Given the description of an element on the screen output the (x, y) to click on. 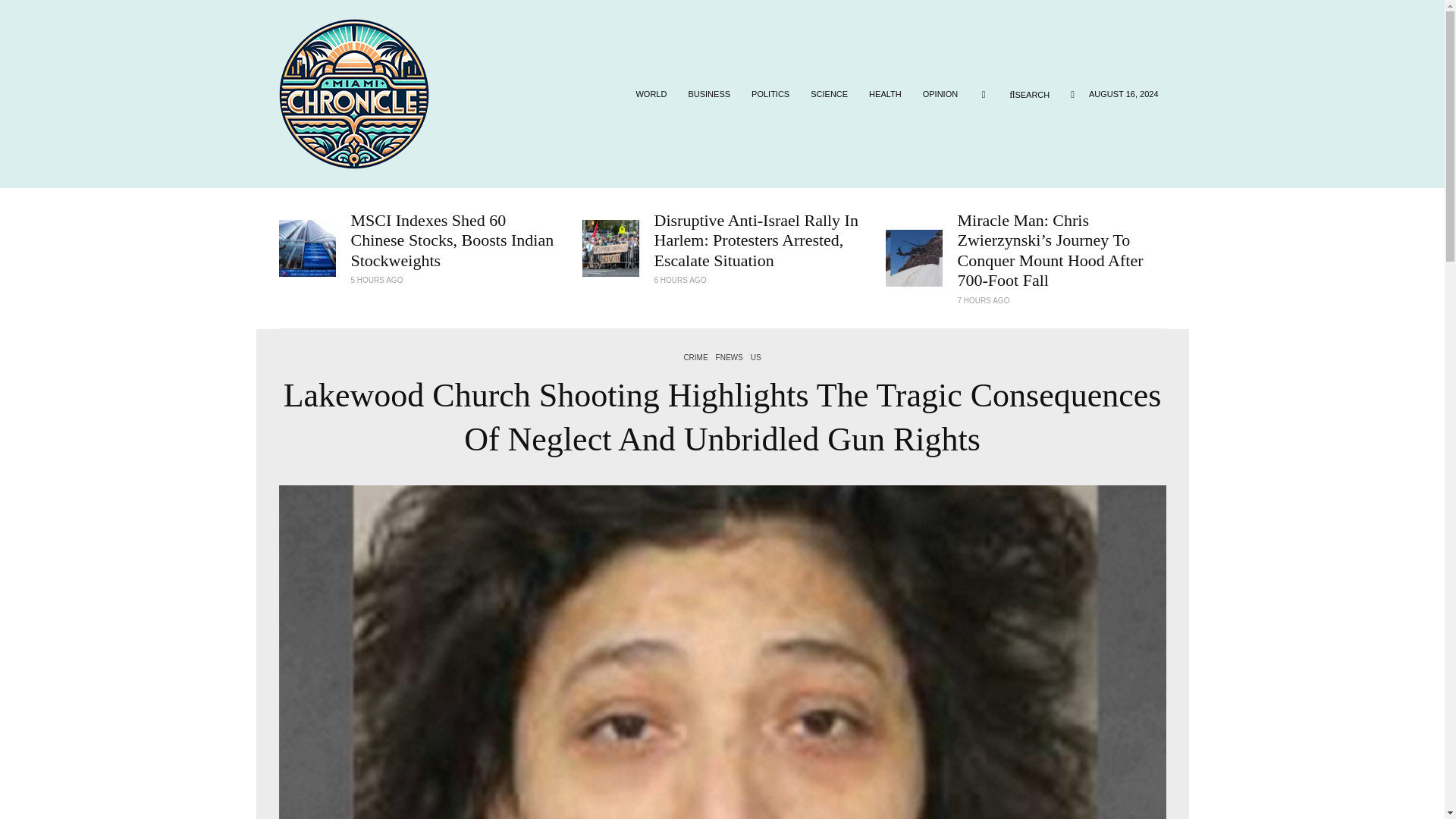
BUSINESS (709, 93)
WORLD (650, 93)
SEARCH (1028, 94)
CRIME (694, 358)
OPINION (940, 93)
SCIENCE (829, 93)
HEALTH (885, 93)
POLITICS (770, 93)
